Given the description of an element on the screen output the (x, y) to click on. 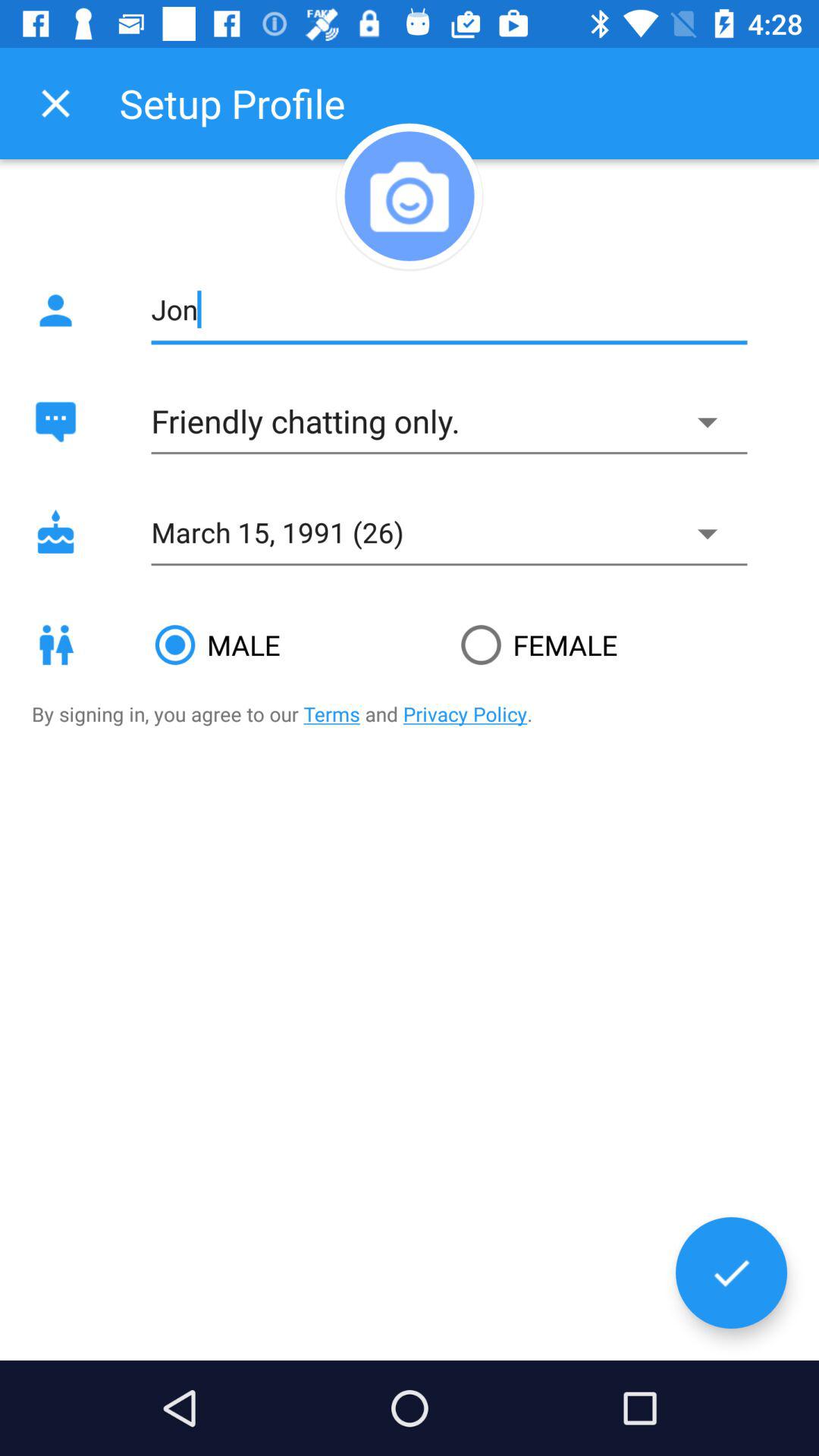
photo (409, 196)
